Given the description of an element on the screen output the (x, y) to click on. 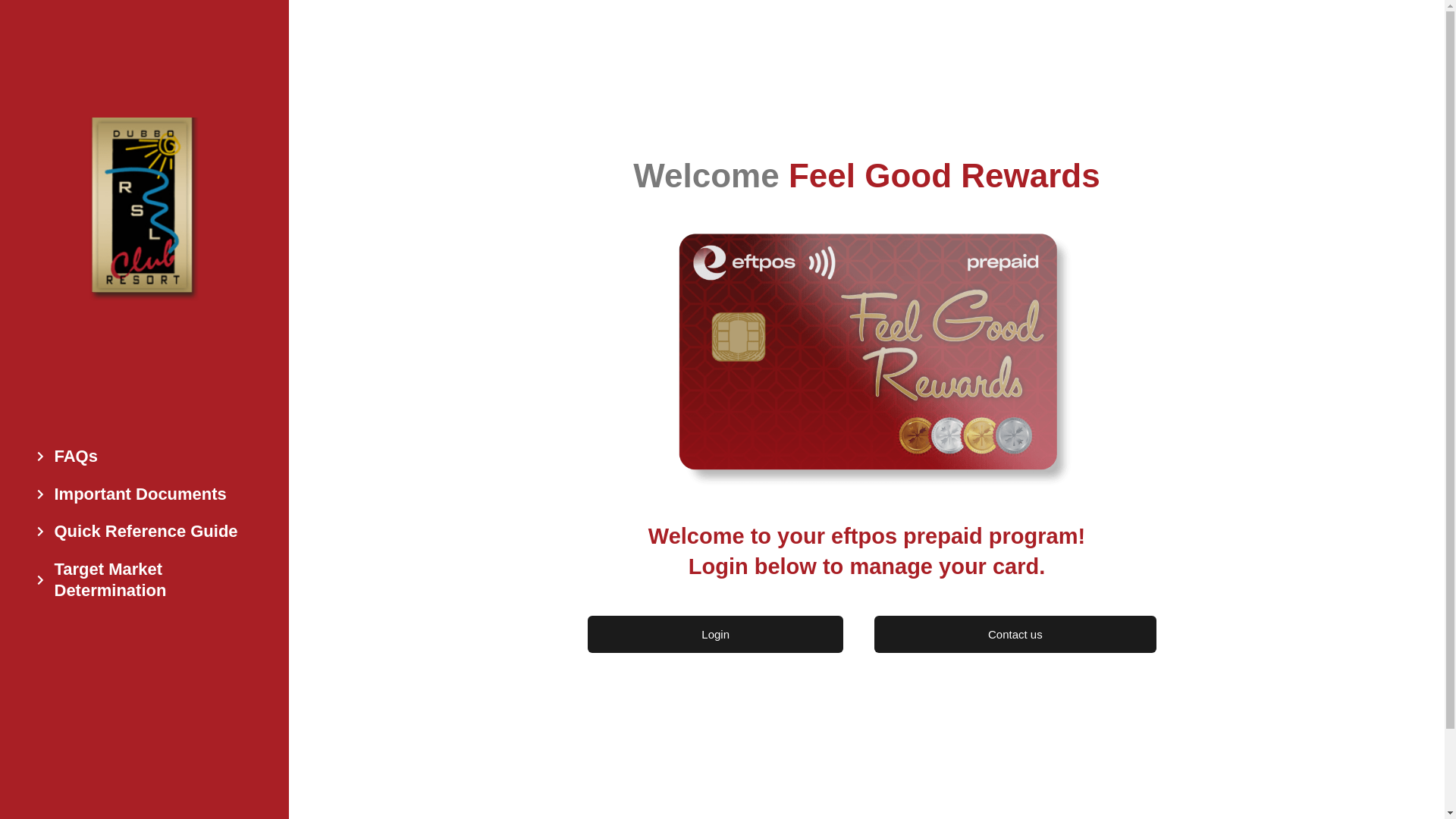
Login Element type: text (715, 633)
Target Market Determination Element type: text (149, 580)
Important Documents Element type: text (149, 494)
FAQs Element type: text (149, 456)
Contact us Element type: text (1015, 633)
Quick Reference Guide Element type: text (149, 531)
